Given the description of an element on the screen output the (x, y) to click on. 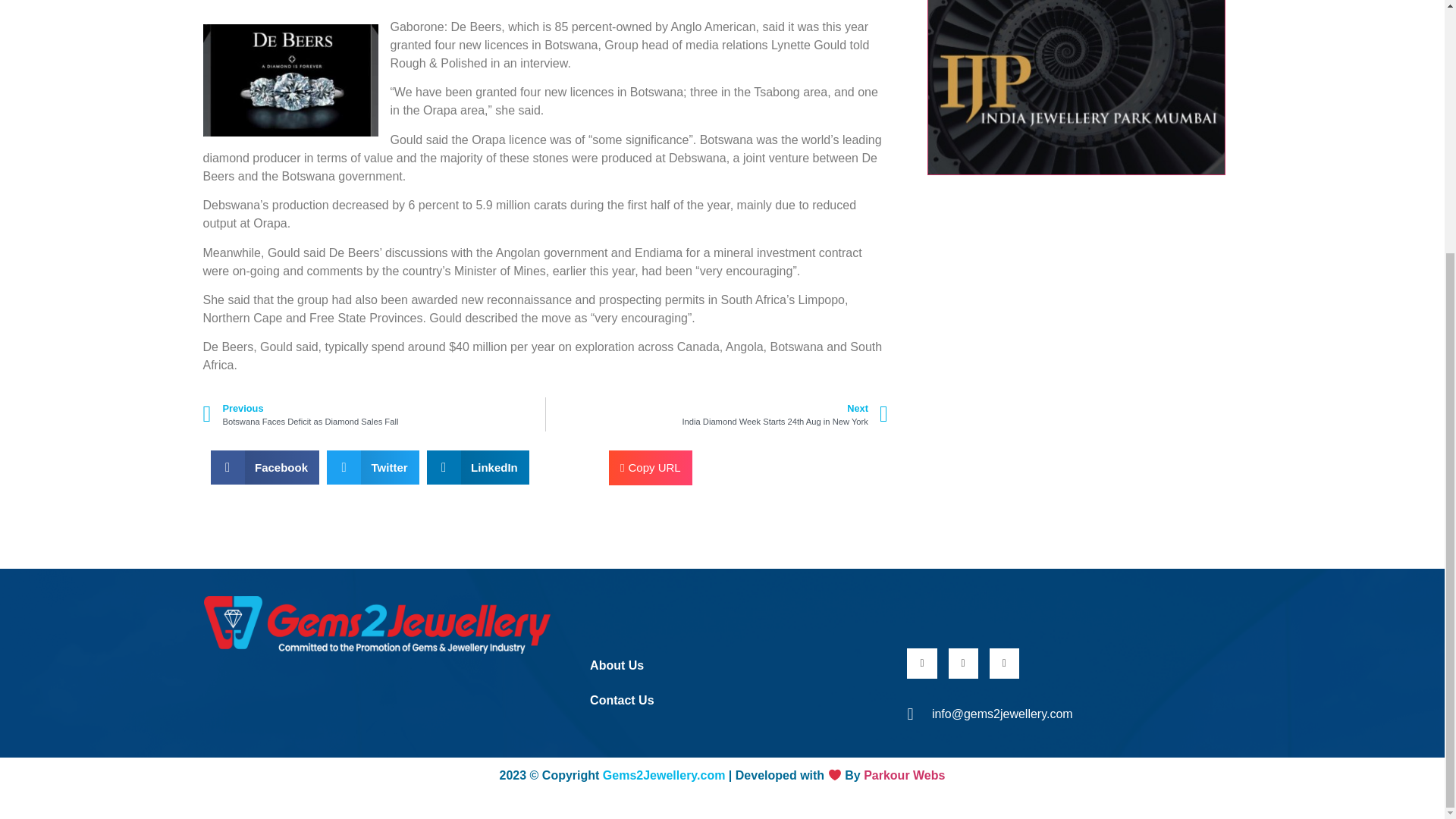
About Us (728, 665)
Parkour Webs (903, 775)
Copy URL (373, 414)
Contact Us (650, 467)
